Given the description of an element on the screen output the (x, y) to click on. 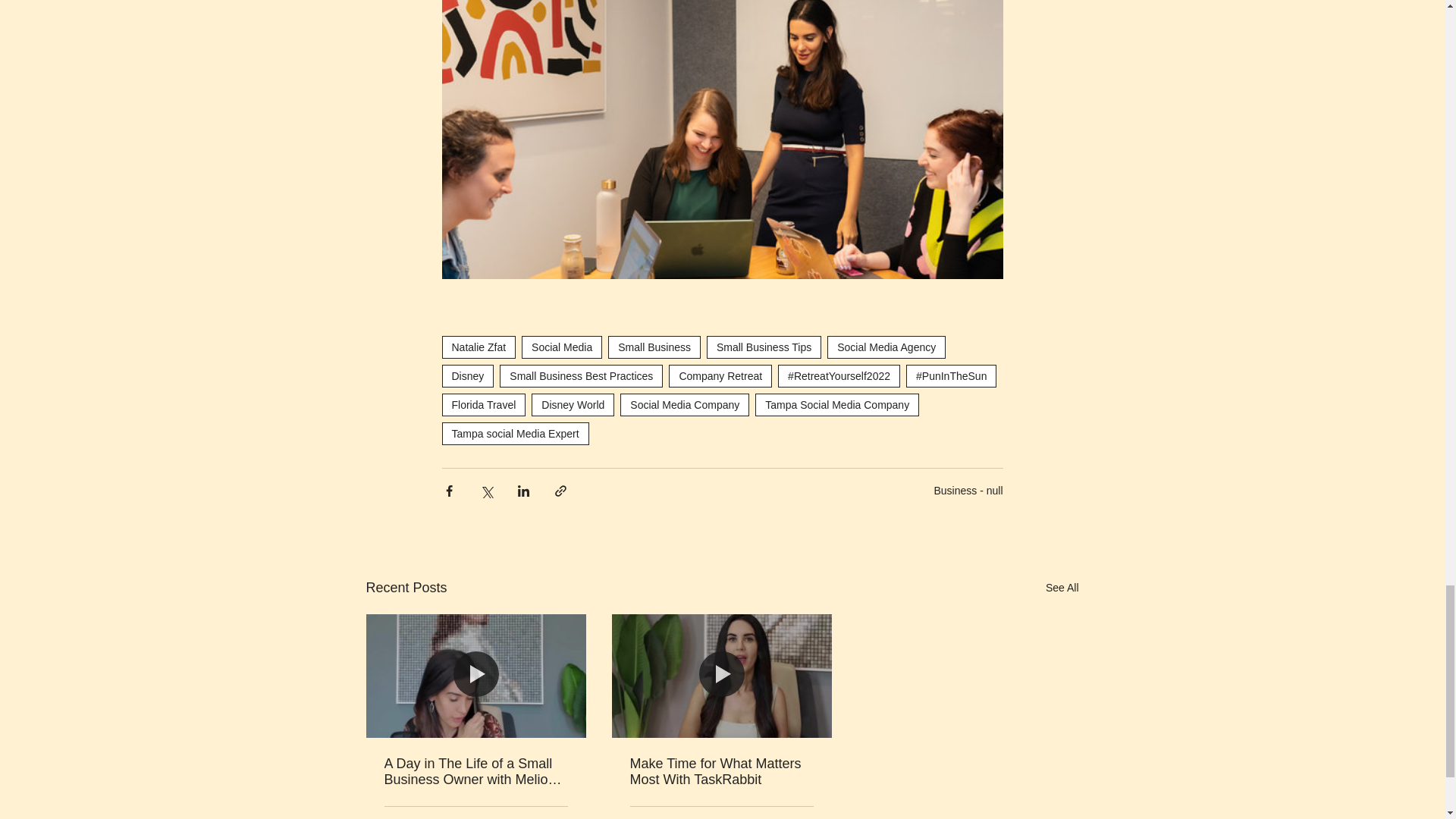
Small Business Best Practices (580, 375)
Natalie Zfat (478, 346)
Small Business (654, 346)
Social Media (561, 346)
Disney (467, 375)
Small Business Tips (763, 346)
Social Media Agency (885, 346)
Company Retreat (719, 375)
